Given the description of an element on the screen output the (x, y) to click on. 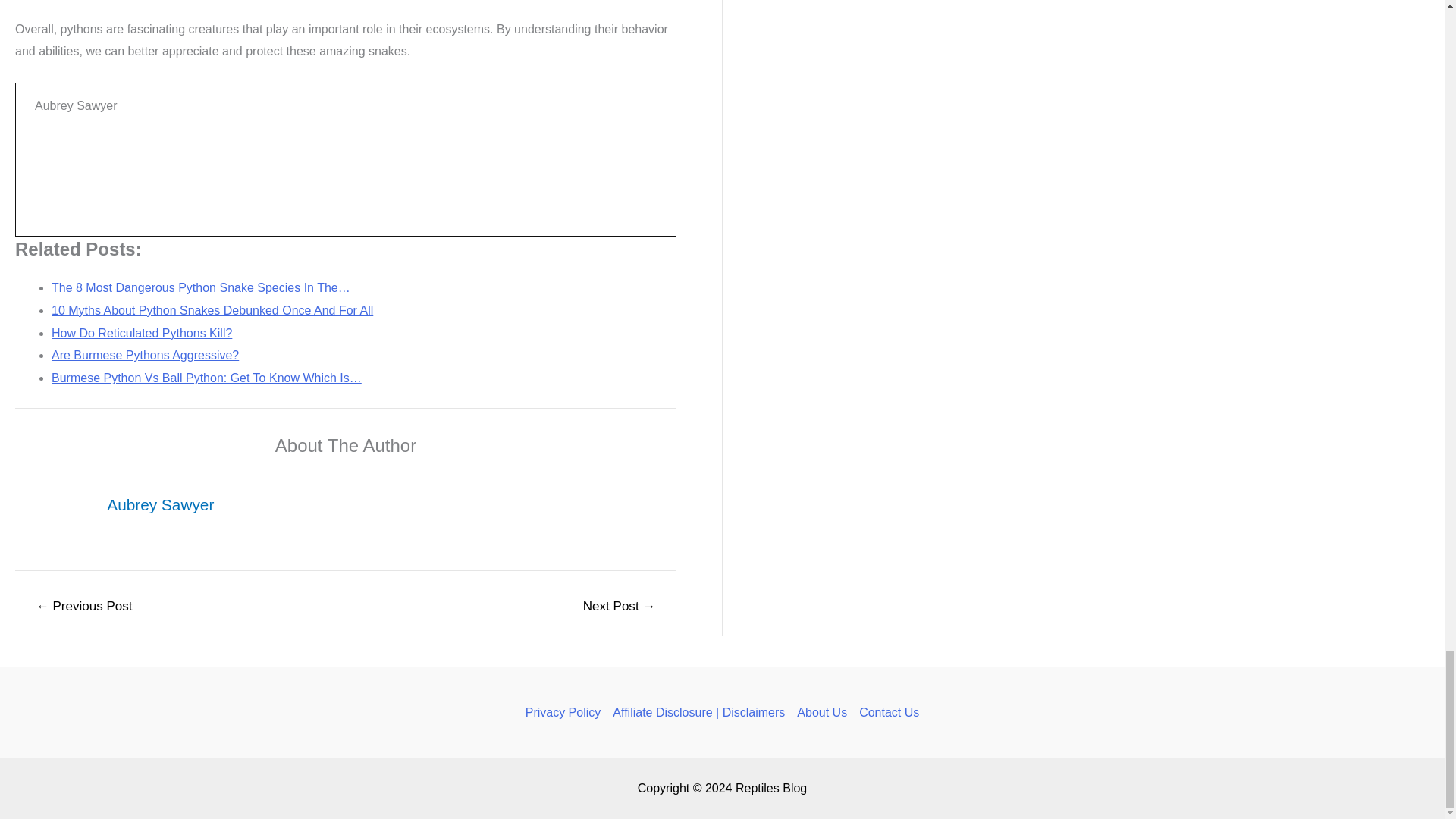
Privacy Policy (566, 712)
About Us (821, 712)
Contact Us (885, 712)
Aubrey Sawyer (160, 504)
How Do Reticulated Pythons Kill? (140, 332)
10 Myths About Python Snakes Debunked Once And For All (211, 309)
Are Burmese Pythons Aggressive? (144, 354)
